Given the description of an element on the screen output the (x, y) to click on. 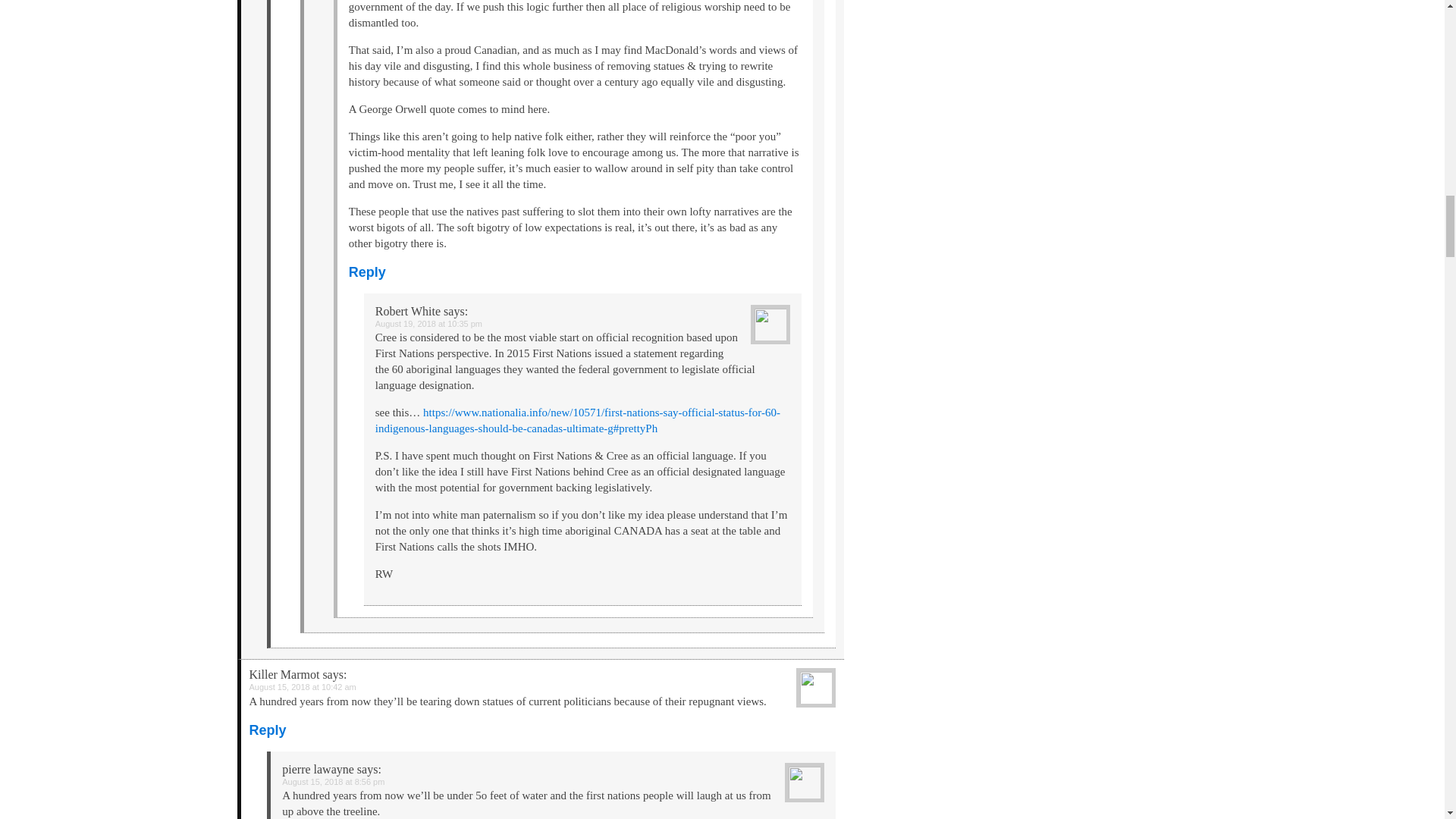
August 19, 2018 at 10:35 pm (428, 323)
August 15, 2018 at 10:42 am (301, 686)
August 15, 2018 at 8:56 pm (333, 781)
Reply (266, 729)
Reply (367, 272)
